Given the description of an element on the screen output the (x, y) to click on. 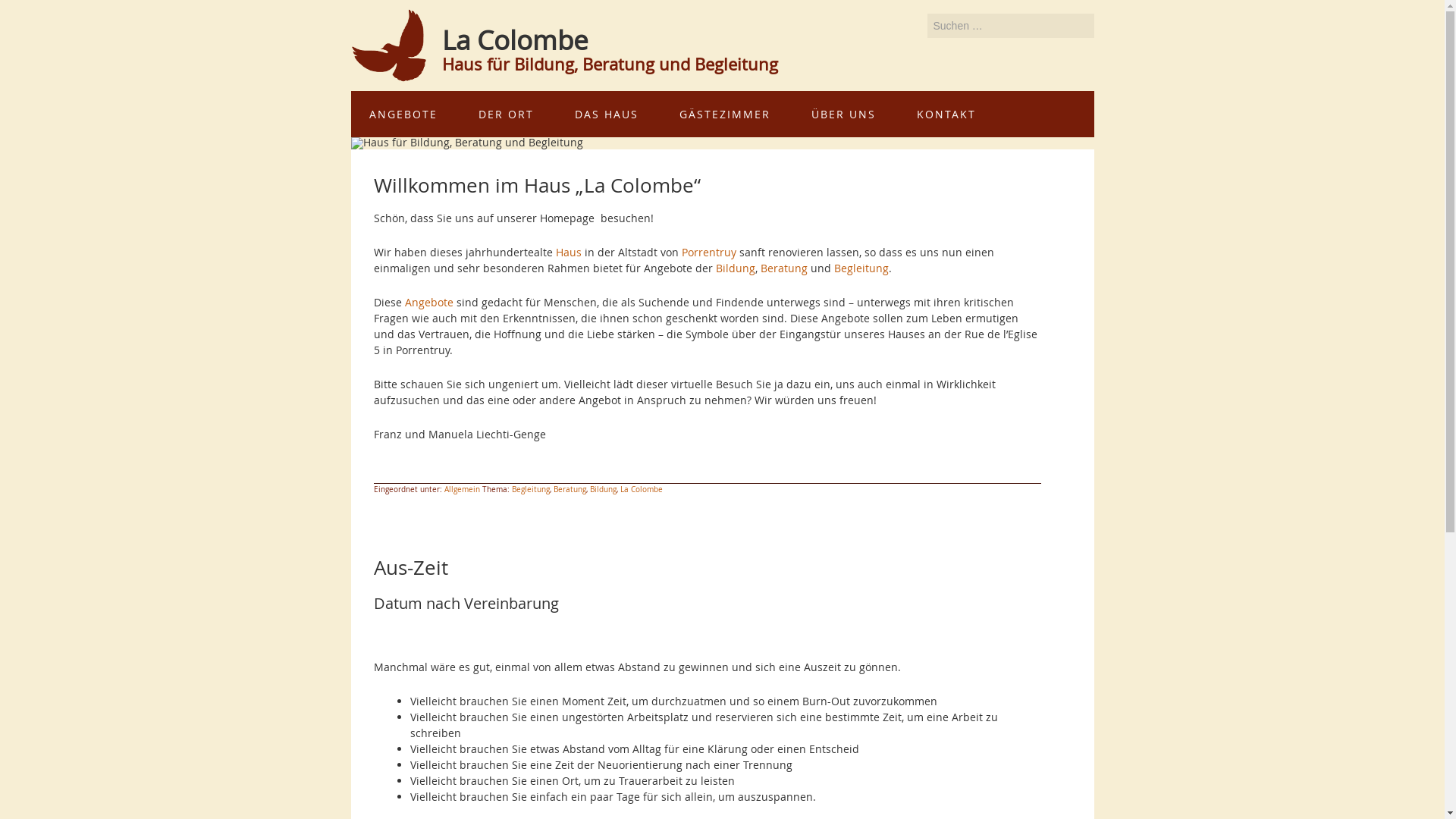
DAS HAUS Element type: text (606, 114)
KONTAKT Element type: text (945, 114)
ANGEBOTE Element type: text (402, 114)
Suchen Element type: text (1093, 12)
Haus Element type: text (567, 251)
Begleitung Element type: text (530, 489)
Porrentruy Element type: text (707, 251)
Begleitung Element type: text (861, 267)
Allgemein Element type: text (462, 489)
DER ORT Element type: text (505, 114)
Beratung Element type: text (569, 489)
Angebote Element type: text (428, 301)
La Colombe Element type: text (641, 489)
Aus-Zeit Element type: text (410, 567)
Beratung Element type: text (782, 267)
Bildung Element type: text (602, 489)
Bildung Element type: text (735, 267)
